Given the description of an element on the screen output the (x, y) to click on. 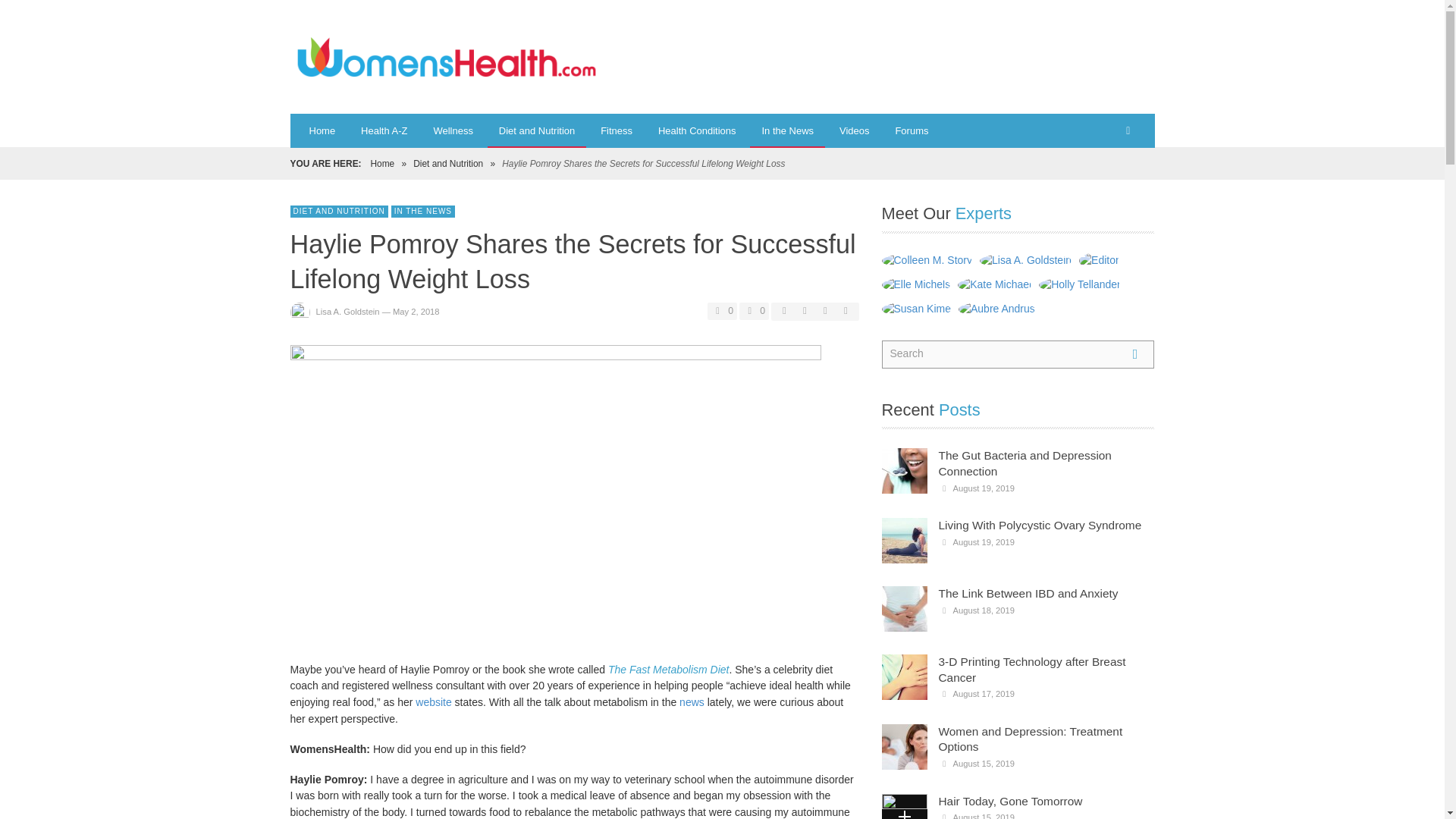
Share on Twitter (803, 310)
Permalink to Colleen M. Story (927, 259)
I like this (721, 311)
Videos (854, 130)
IN THE NEWS (422, 211)
View all posts in In the News (422, 211)
Health A-Z (384, 130)
0 (753, 311)
In the News (787, 130)
Lisa A. Goldstein (347, 311)
news (693, 702)
Share on Pinterest (844, 310)
View all posts in Diet and Nutrition (338, 211)
Fitness (616, 130)
